Given the description of an element on the screen output the (x, y) to click on. 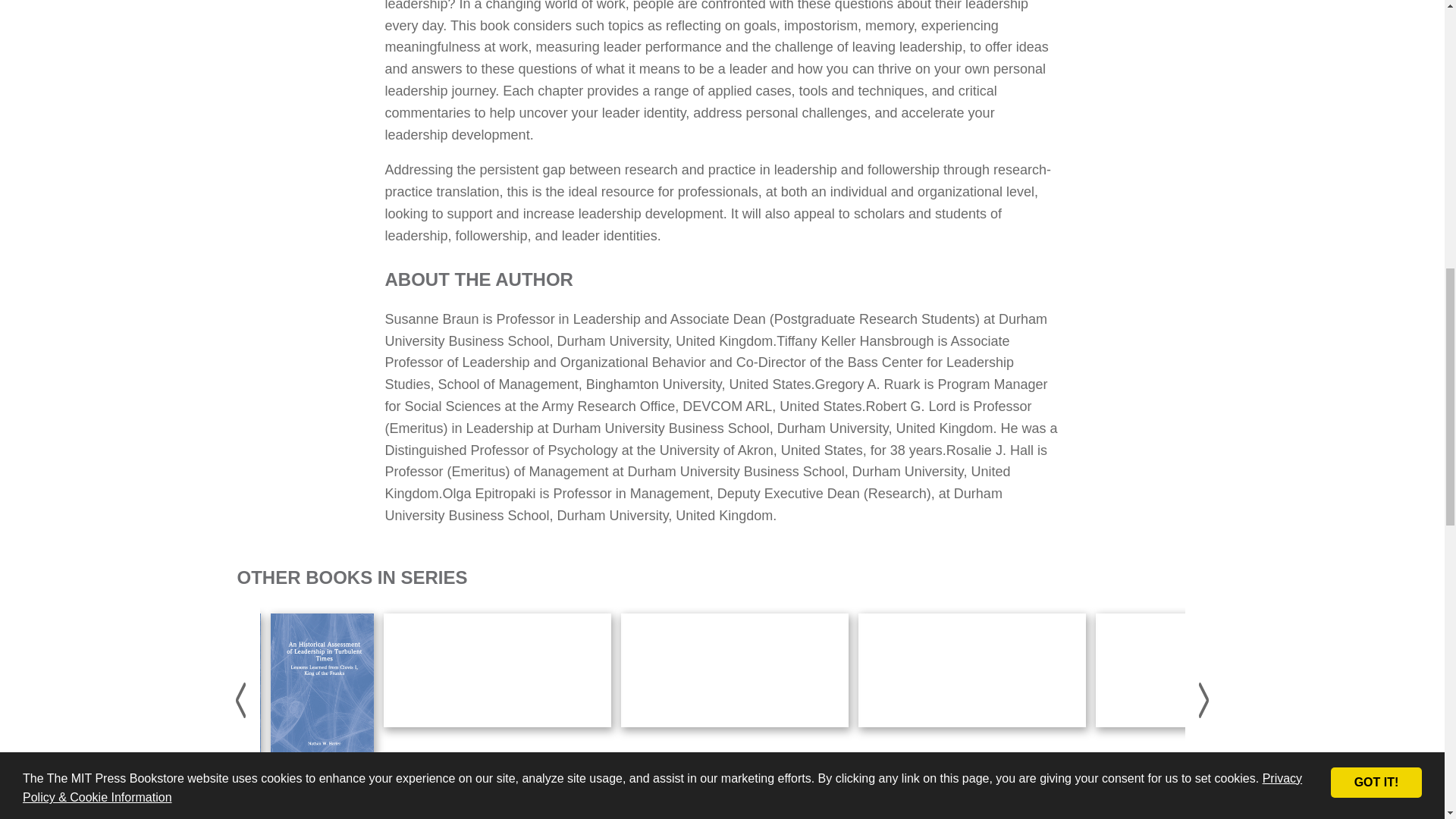
GOT IT! (1376, 45)
